Given the description of an element on the screen output the (x, y) to click on. 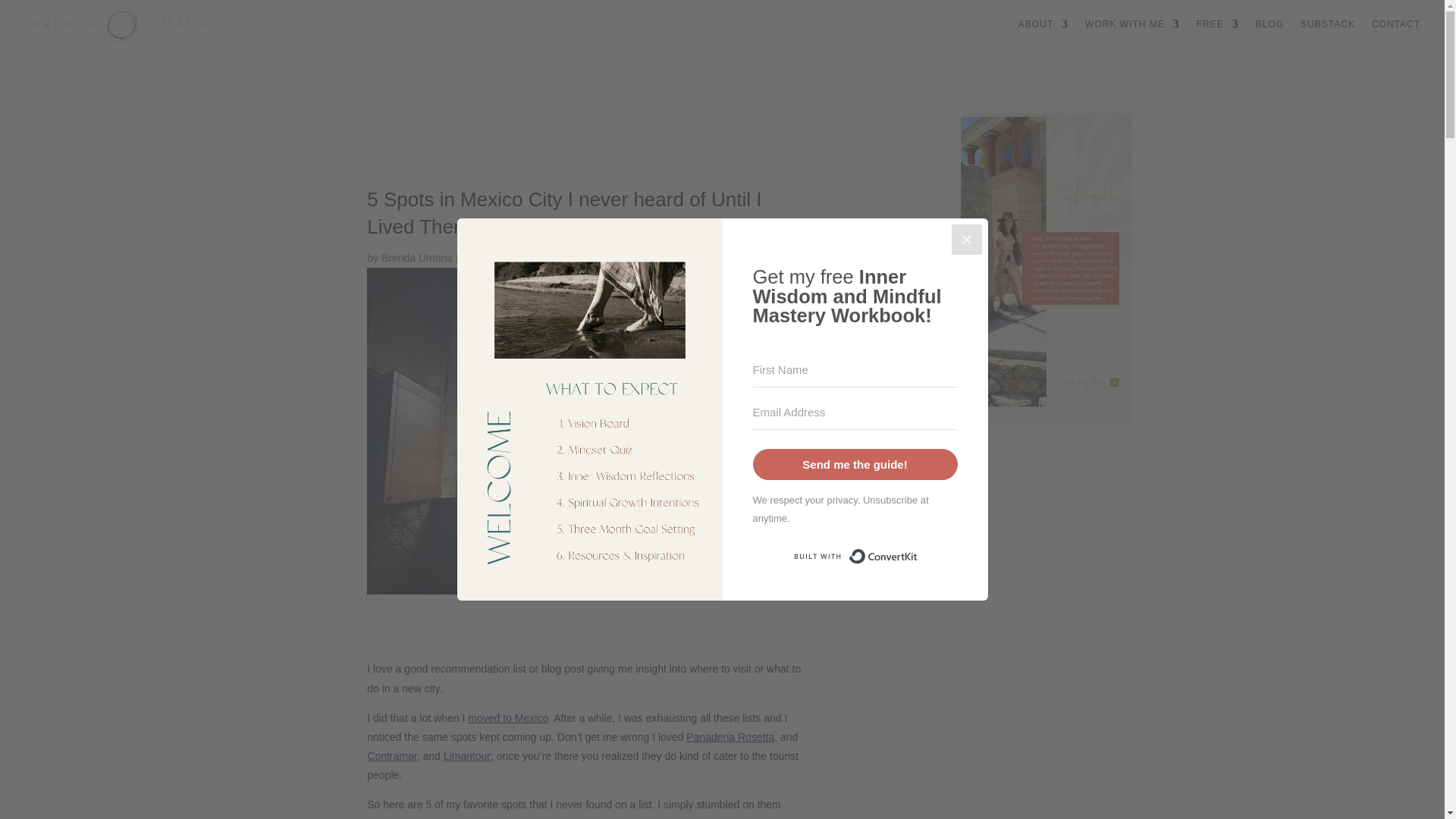
Brenda Umana (416, 257)
moved to Mexico (507, 717)
SUBSTACK (1327, 33)
CONTACT (1396, 33)
Posts by Brenda Umana (416, 257)
Contramar (391, 756)
WORK WITH ME (1131, 33)
Limantour; (468, 756)
ABOUT (1042, 33)
Panaderia Rosetta (729, 736)
FREE (1217, 33)
BLOG (1269, 33)
